Given the description of an element on the screen output the (x, y) to click on. 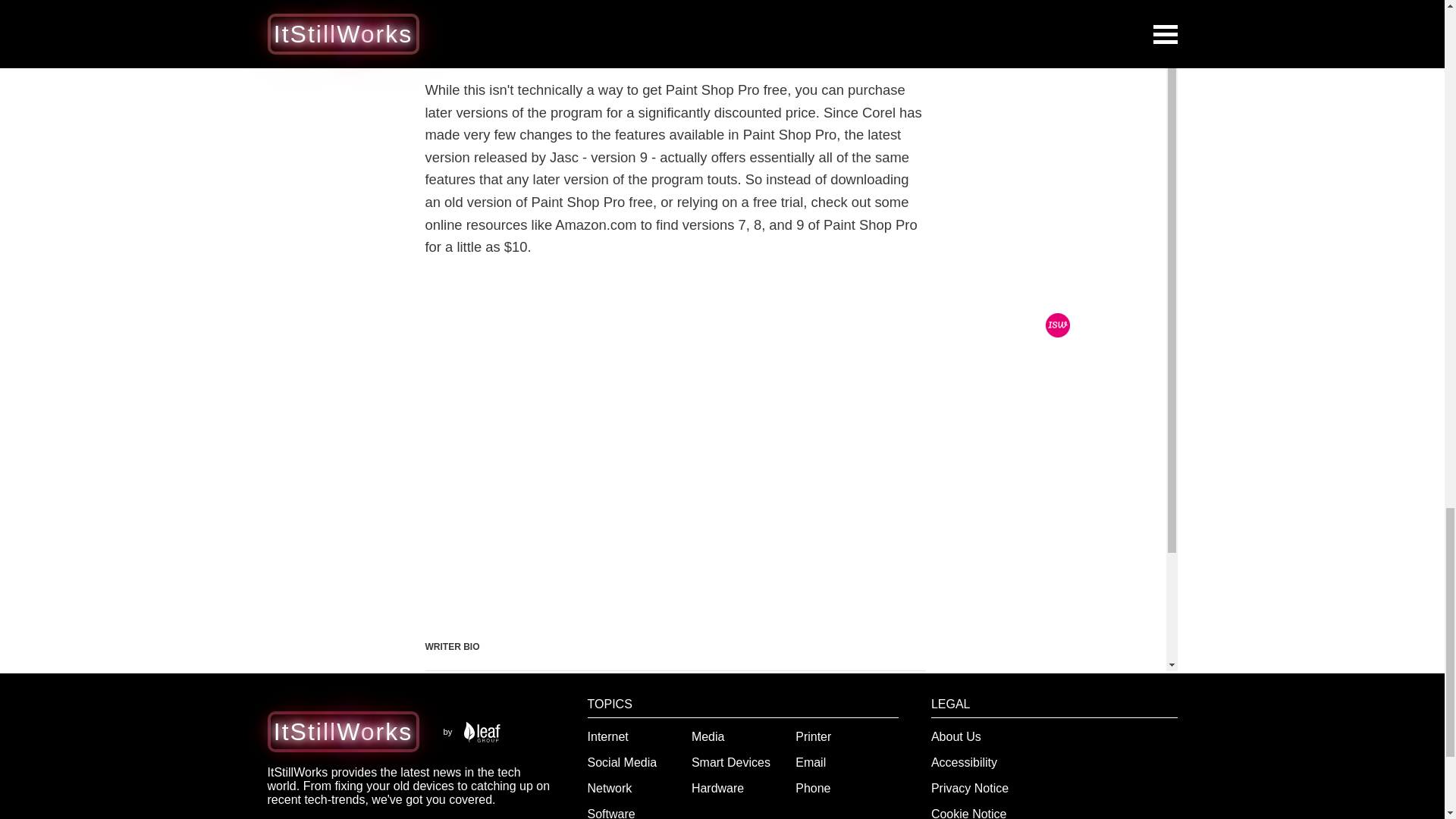
Email (809, 762)
Hardware (717, 788)
Media (708, 736)
Phone (811, 788)
Internet (608, 736)
Accessibility (964, 762)
Social Media (623, 762)
Cookie Notice (969, 813)
About Us (956, 736)
Privacy Notice (970, 788)
Smart Devices (730, 762)
Network (609, 788)
Software (611, 813)
Printer (812, 736)
ItStillWorks (342, 731)
